Given the description of an element on the screen output the (x, y) to click on. 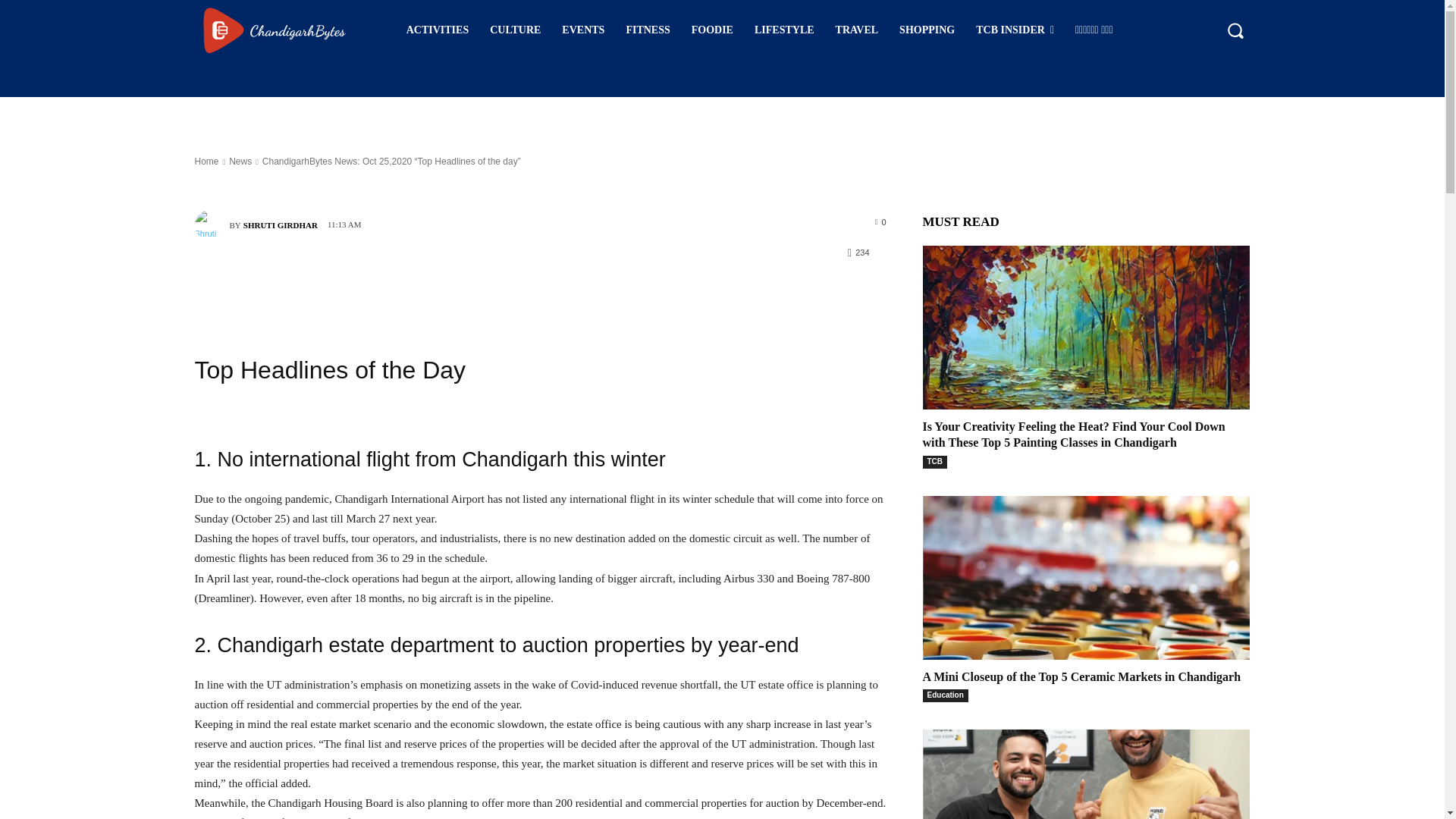
EVENTS (582, 30)
CULTURE (515, 30)
Shruti Girdhar (210, 224)
TRAVEL (857, 30)
FOODIE (712, 30)
LIFESTYLE (784, 30)
View all posts in News (239, 161)
SHOPPING (926, 30)
TCB INSIDER (1014, 30)
FITNESS (646, 30)
